Given the description of an element on the screen output the (x, y) to click on. 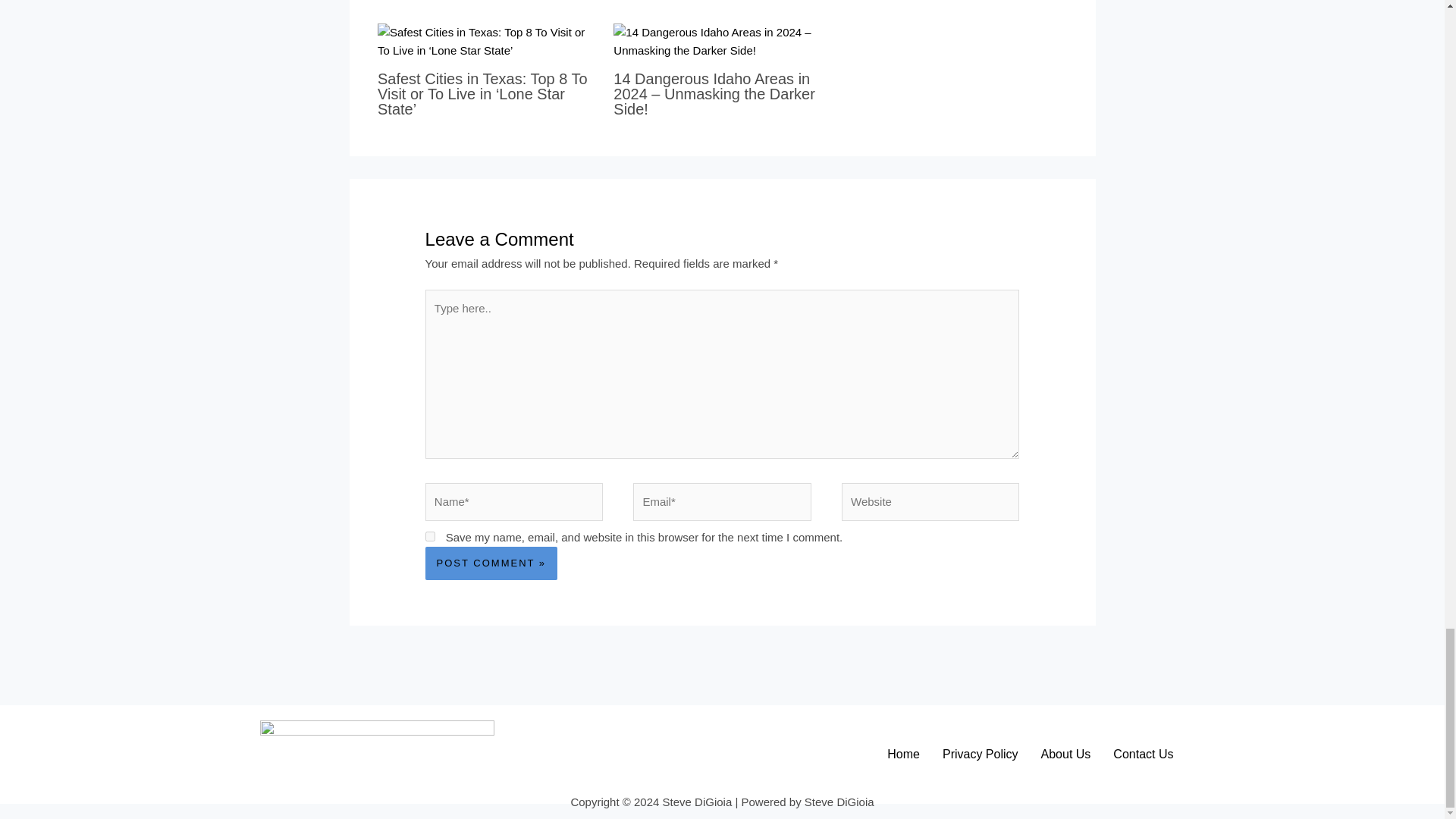
yes (430, 536)
